Given the description of an element on the screen output the (x, y) to click on. 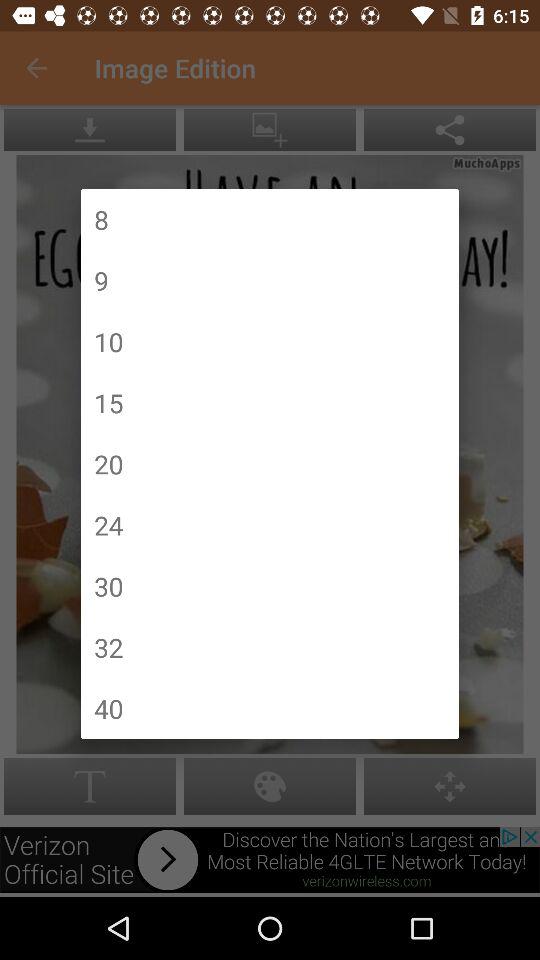
choose the icon below the 10 icon (108, 402)
